Given the description of an element on the screen output the (x, y) to click on. 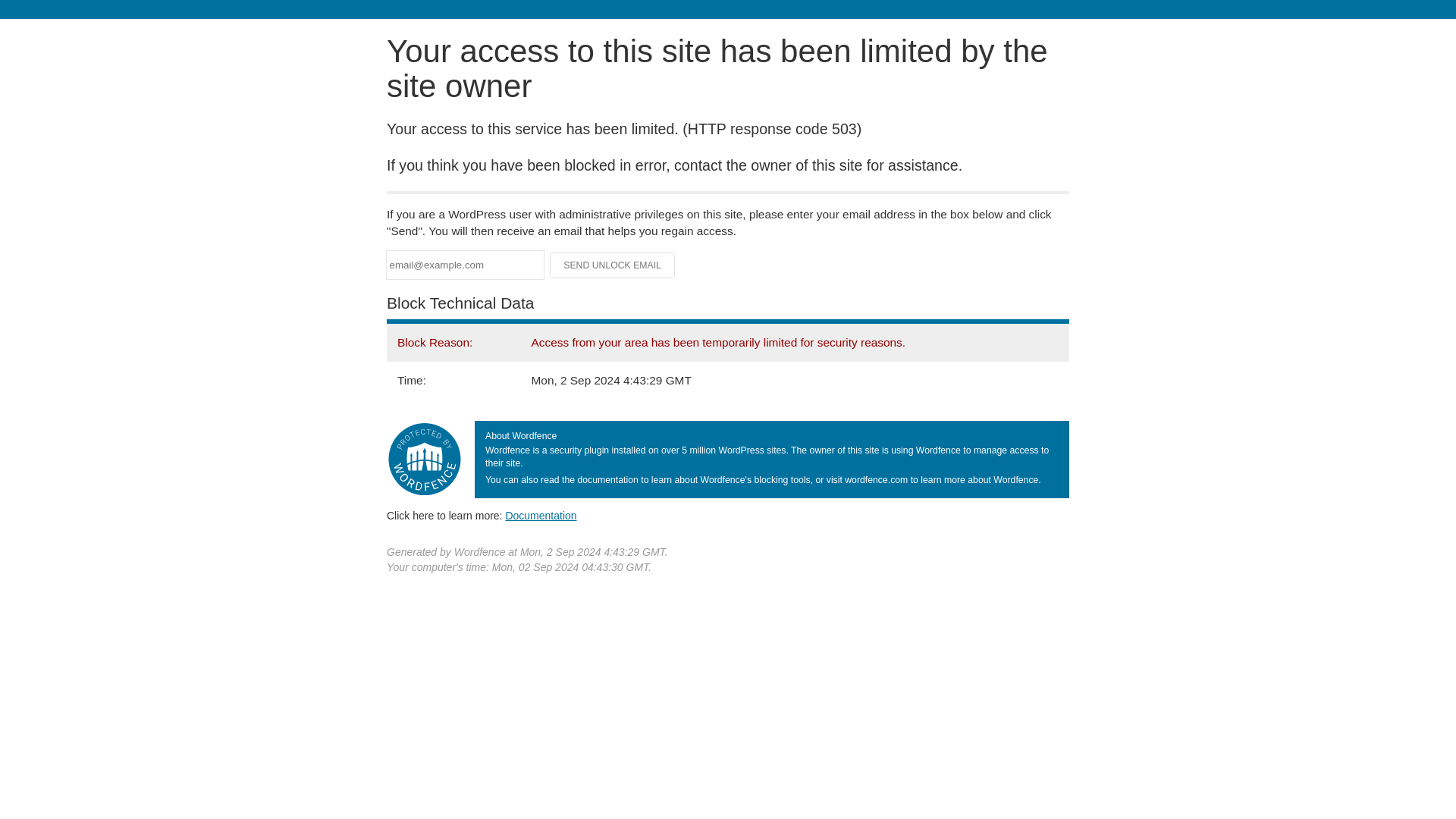
Send Unlock Email (612, 265)
Documentation (540, 515)
Send Unlock Email (612, 265)
